Given the description of an element on the screen output the (x, y) to click on. 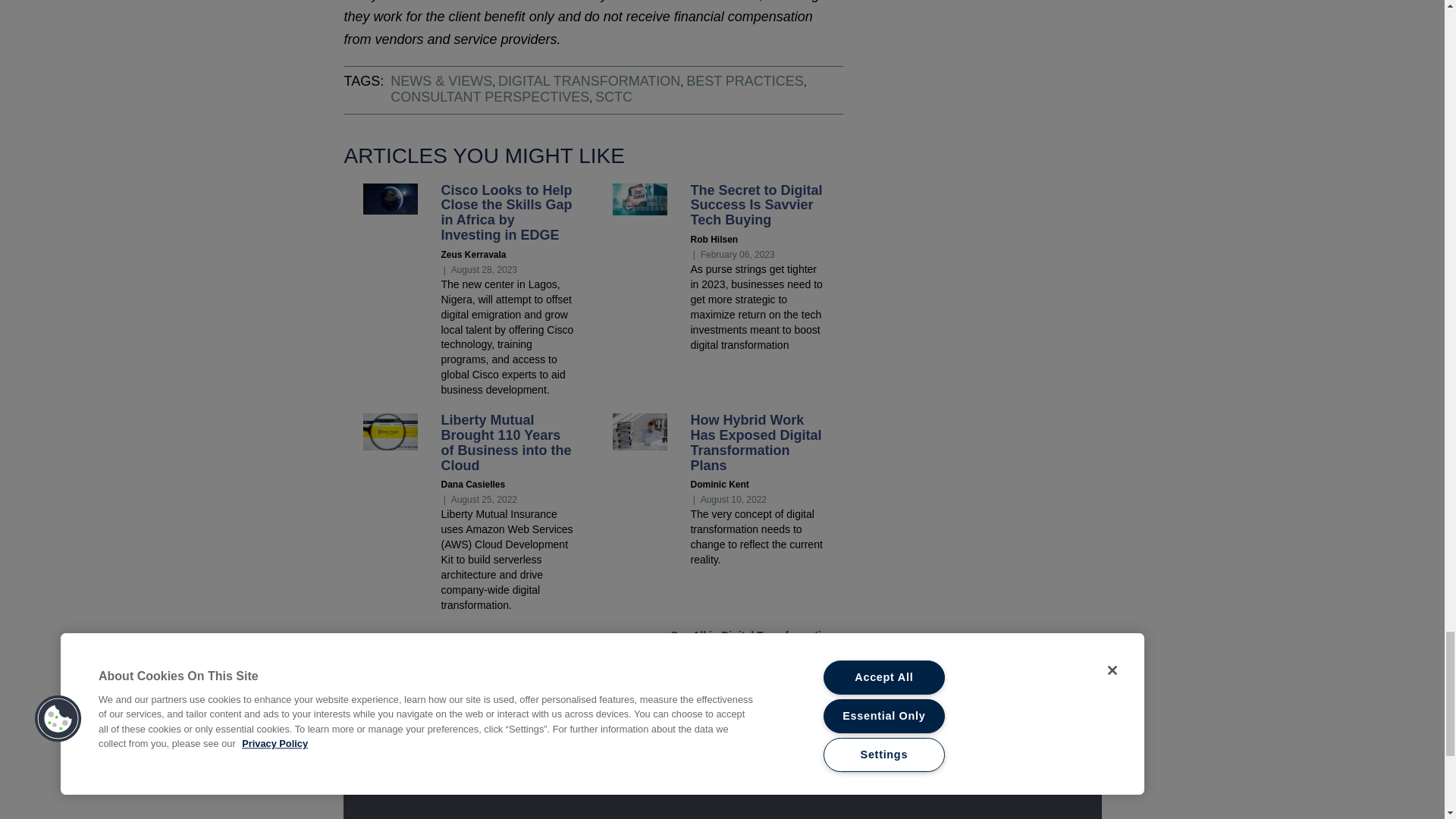
3rd party ad content (721, 739)
